Given the description of an element on the screen output the (x, y) to click on. 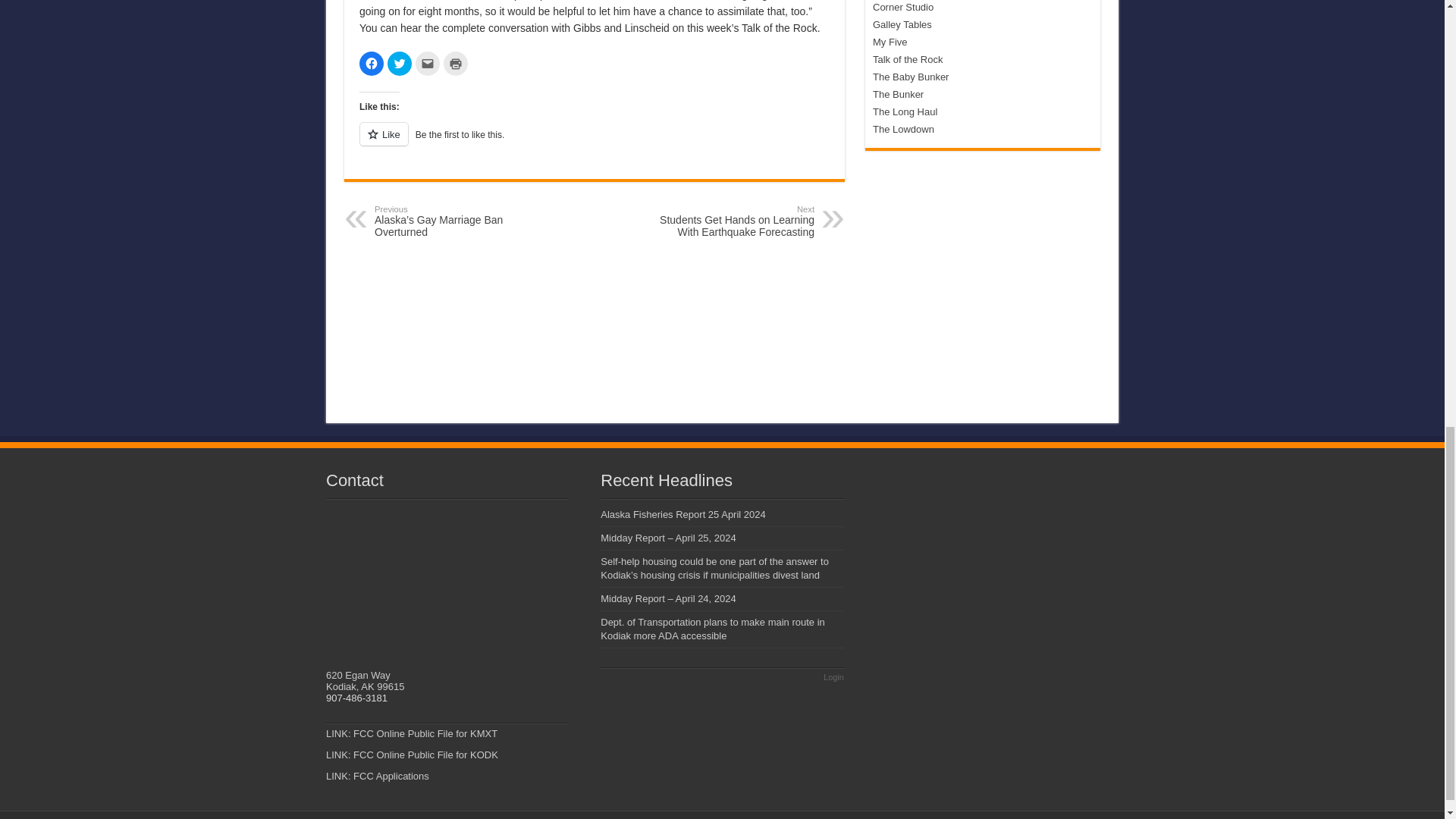
Click to share on Facebook (371, 63)
Click to share on Twitter (399, 63)
Click to email a link to a friend (426, 63)
